Given the description of an element on the screen output the (x, y) to click on. 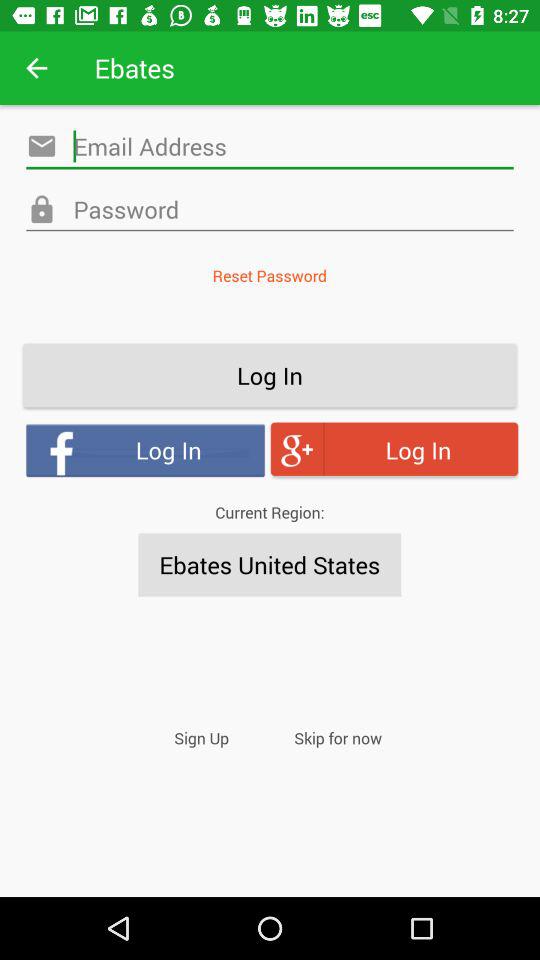
click item to the left of skip for now (201, 737)
